Given the description of an element on the screen output the (x, y) to click on. 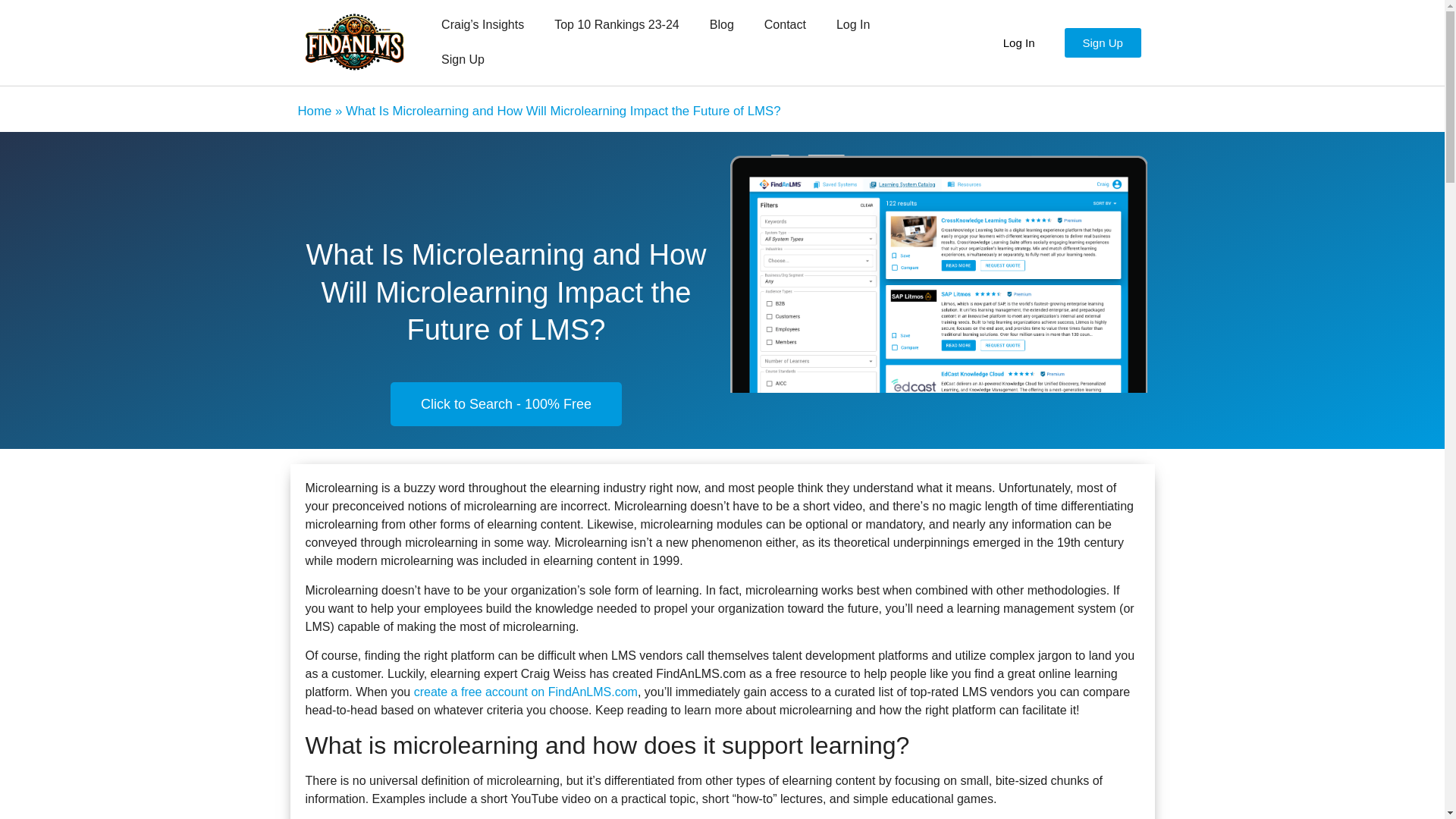
Blog (721, 24)
Top 10 Rankings 23-24 (616, 24)
Sign Up (1102, 41)
Log In (853, 24)
Sign Up (462, 59)
Contact (785, 24)
Log In (1018, 41)
create a free account on FindAnLMS.com (525, 691)
Home (314, 110)
